Given the description of an element on the screen output the (x, y) to click on. 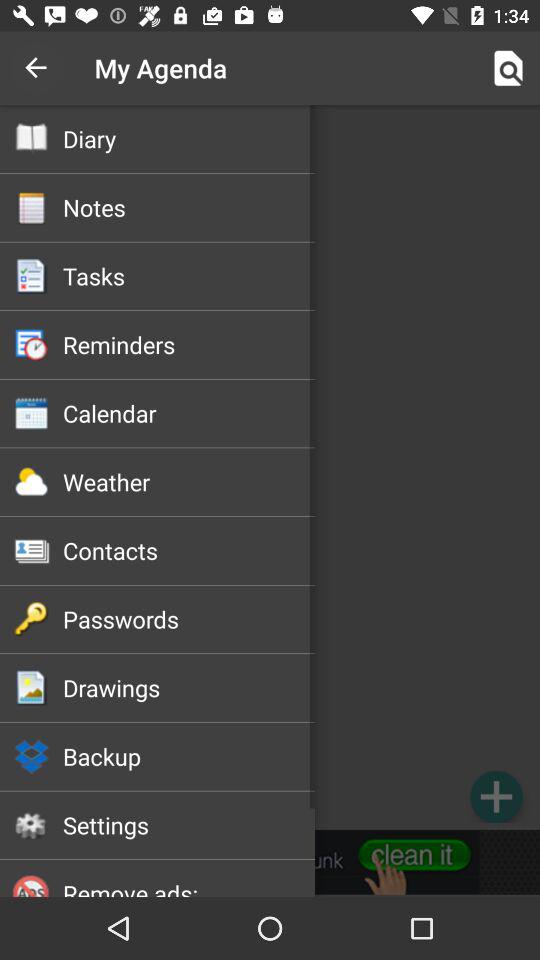
choose the item above the calendar item (188, 344)
